Given the description of an element on the screen output the (x, y) to click on. 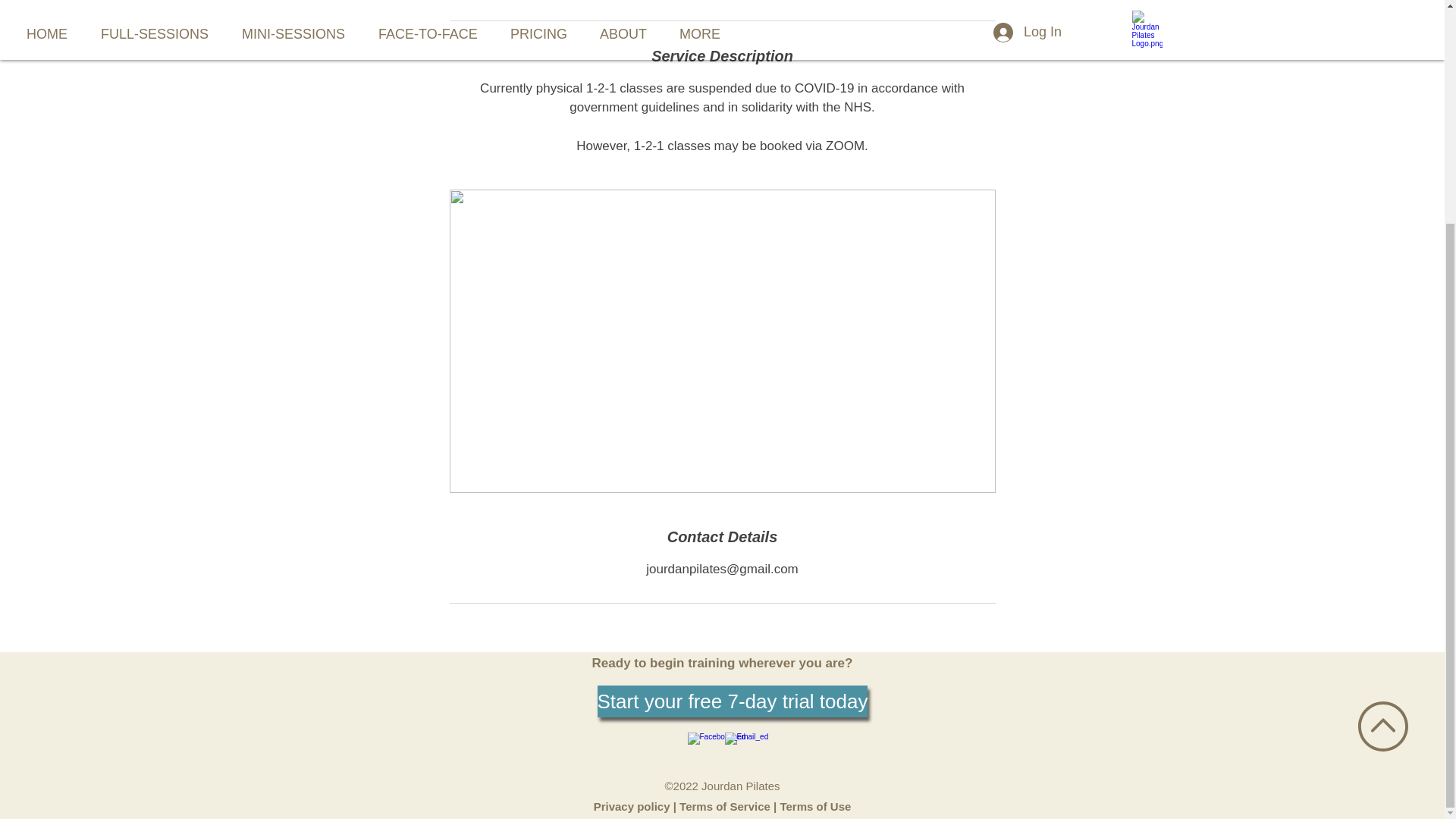
Terms of Service (724, 806)
Privacy policy  (633, 806)
Terms of Use (814, 806)
Start your free 7-day trial today (731, 701)
